Given the description of an element on the screen output the (x, y) to click on. 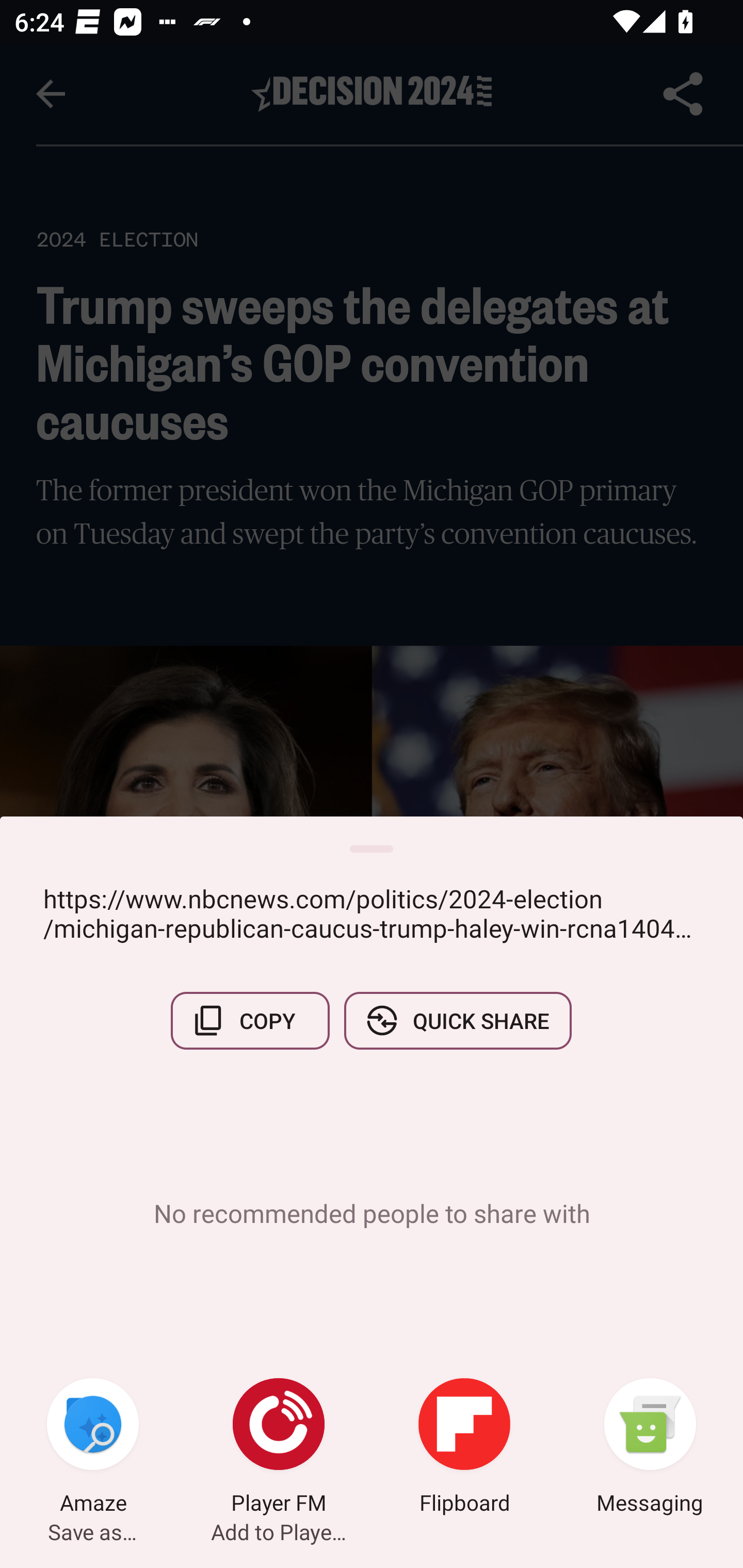
COPY (249, 1020)
QUICK SHARE (457, 1020)
Amaze Save as… (92, 1448)
Player FM Add to Player FM (278, 1448)
Flipboard (464, 1448)
Messaging (650, 1448)
